Given the description of an element on the screen output the (x, y) to click on. 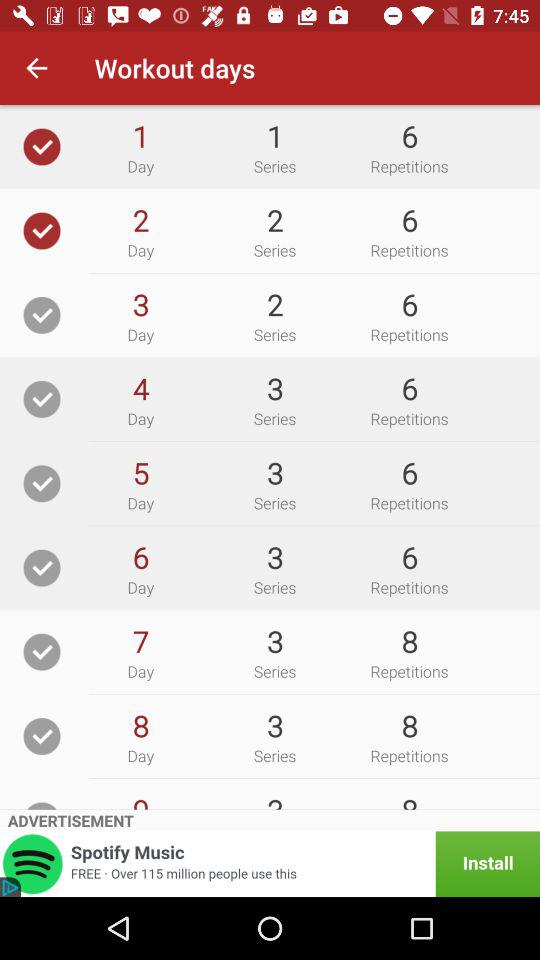
turn on the item to the left of the 3 icon (140, 388)
